Given the description of an element on the screen output the (x, y) to click on. 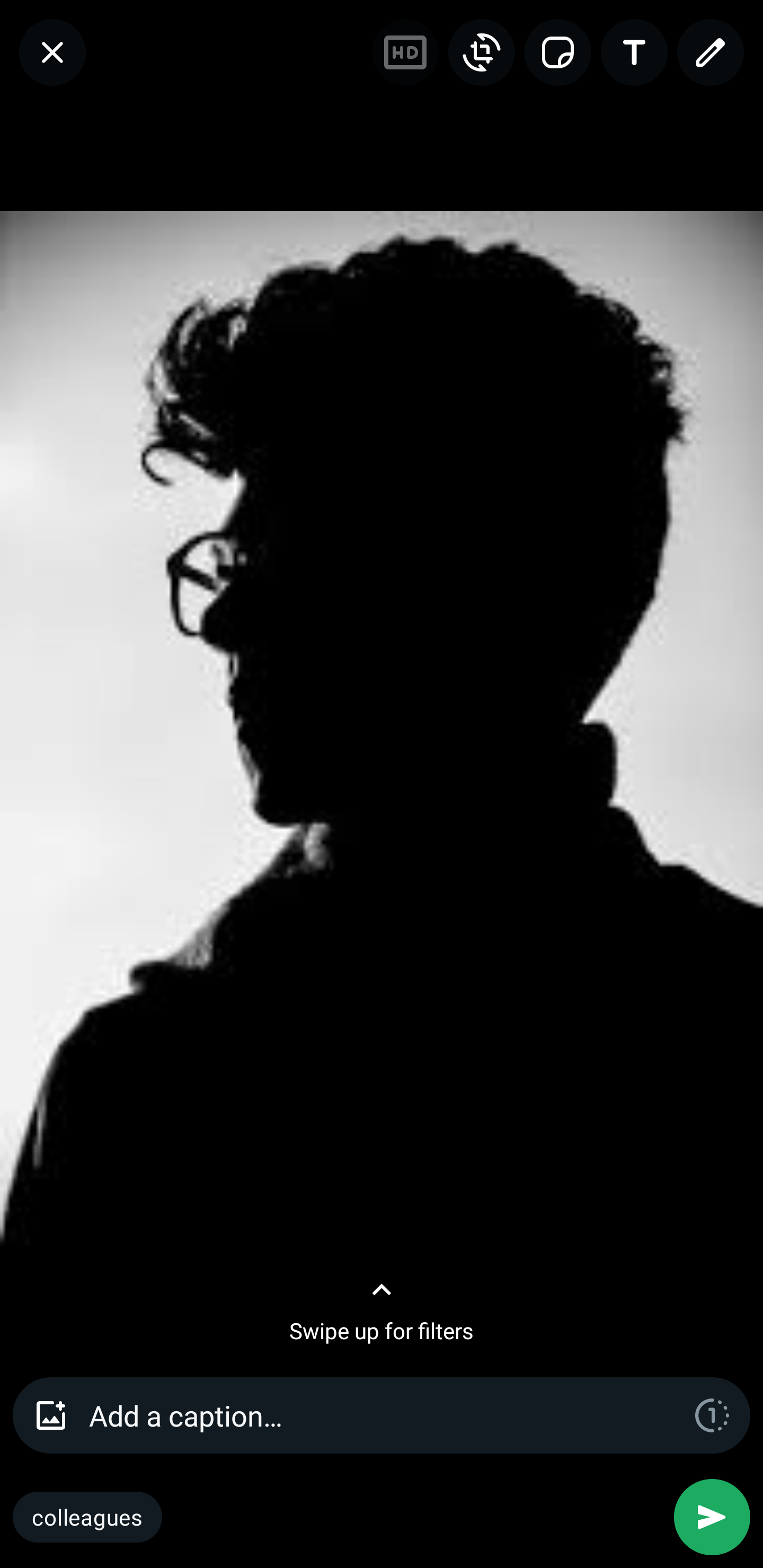
Back (52, 52)
Media upload quality (405, 52)
Crop and rotate (481, 52)
Emoji and shapes (557, 52)
Add text (633, 52)
Draw (710, 52)
Add media (50, 1414)
Turn on view once (711, 1414)
Add a caption… (381, 1414)
colleagues (86, 1516)
Send (711, 1516)
